Given the description of an element on the screen output the (x, y) to click on. 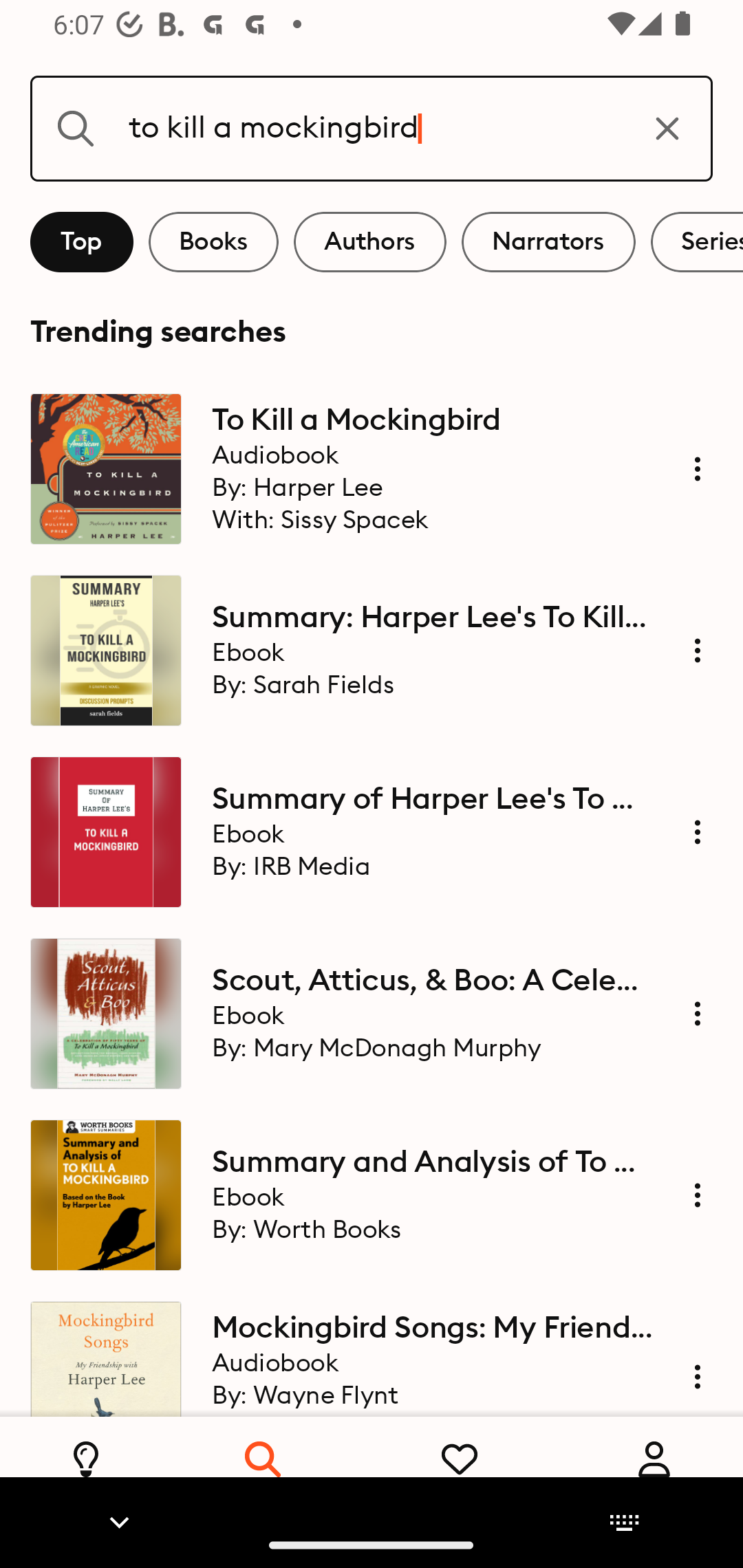
to kill a mockingbird (371, 128)
Top (81, 241)
Books (213, 241)
Authors (369, 241)
Narrators (548, 241)
Series (696, 241)
